Given the description of an element on the screen output the (x, y) to click on. 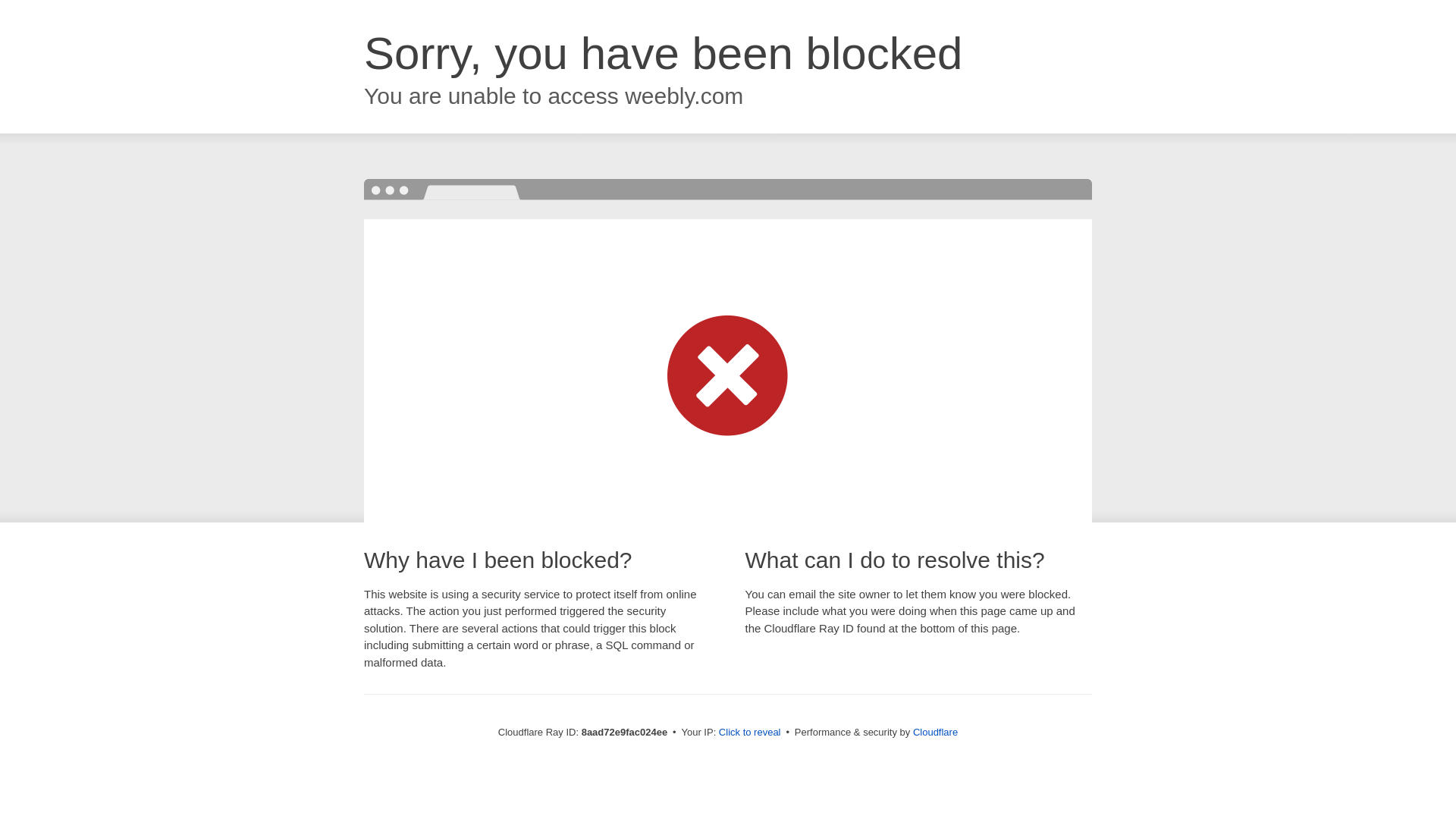
Click to reveal (749, 732)
Cloudflare (935, 731)
